Given the description of an element on the screen output the (x, y) to click on. 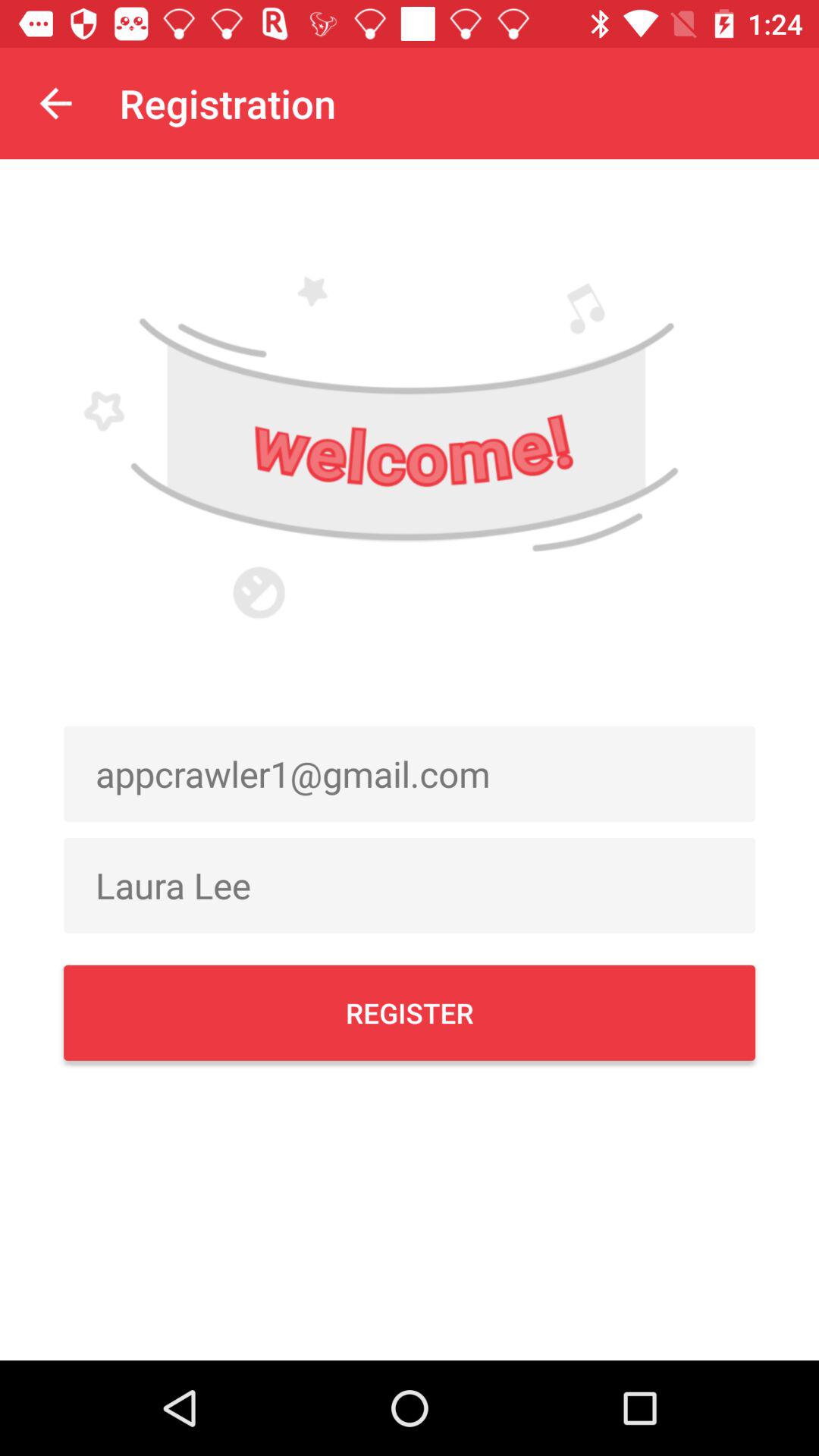
click the item above laura lee icon (409, 773)
